Given the description of an element on the screen output the (x, y) to click on. 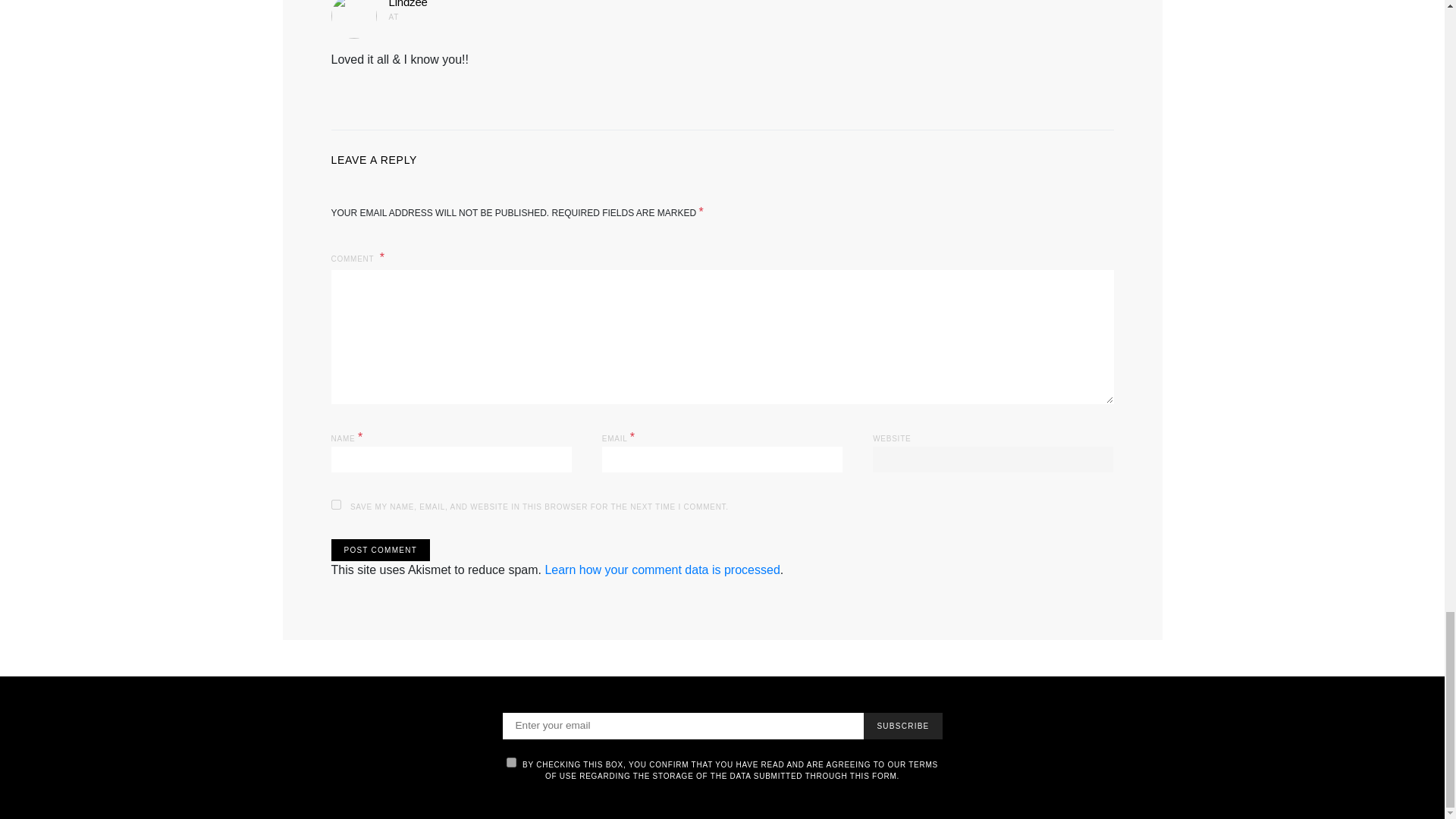
yes (335, 504)
Post Comment (379, 549)
on (511, 762)
